Given the description of an element on the screen output the (x, y) to click on. 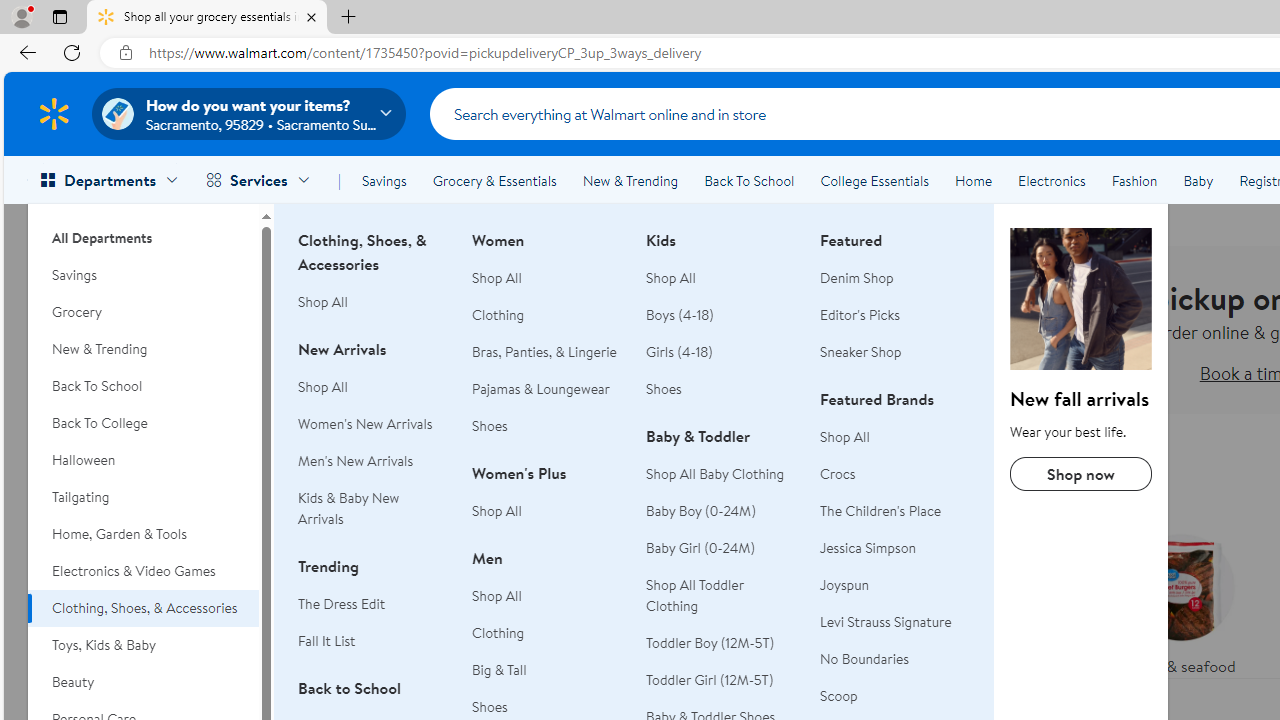
Bras, Panties, & Lingerie (544, 352)
Scoop (838, 696)
Women's New Arrivals (365, 423)
Halloween (143, 460)
College Essentials (874, 180)
Jessica Simpson (868, 547)
Shop all your grocery essentials in one place! - Walmart.com (207, 17)
Shop All Baby Clothing (715, 473)
Toddler Boy (12M-5T) (721, 642)
Bras, Panties, & Lingerie (547, 352)
New & Trending (630, 180)
Meat & seafood (1180, 599)
Clothing (547, 632)
Tailgating (143, 497)
